Given the description of an element on the screen output the (x, y) to click on. 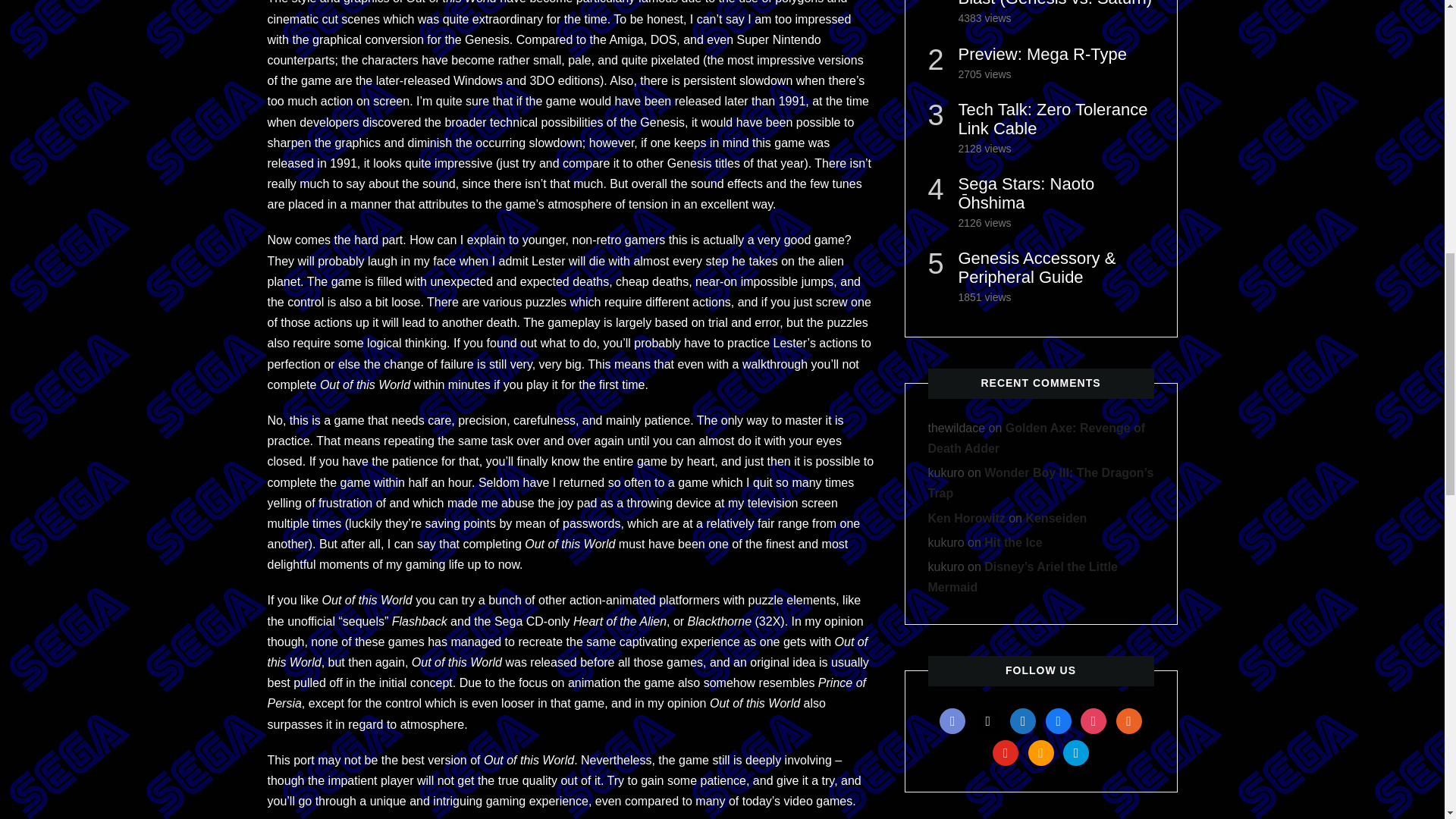
Permanent Link to Preview: Mega R-Type (1042, 54)
Permanent Link to Tech Talk: Zero Tolerance Link Cable (1053, 118)
Twitter (988, 719)
Facebook (1058, 719)
